Given the description of an element on the screen output the (x, y) to click on. 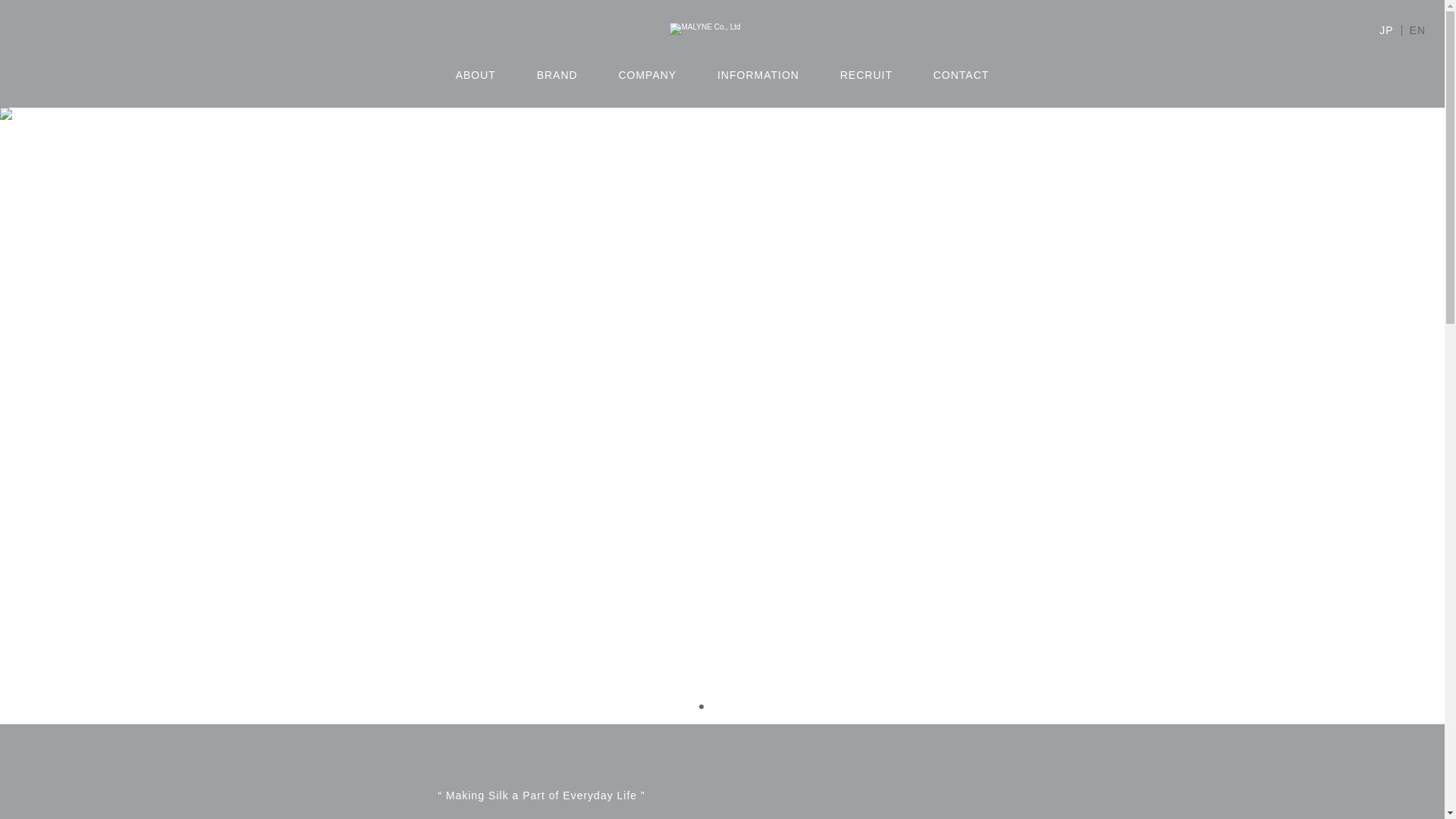
ABOUT (475, 74)
JP (1385, 30)
INFORMATION (758, 74)
BRAND (557, 74)
RECRUIT (866, 74)
CONTACT (961, 74)
COMPANY (647, 74)
